Given the description of an element on the screen output the (x, y) to click on. 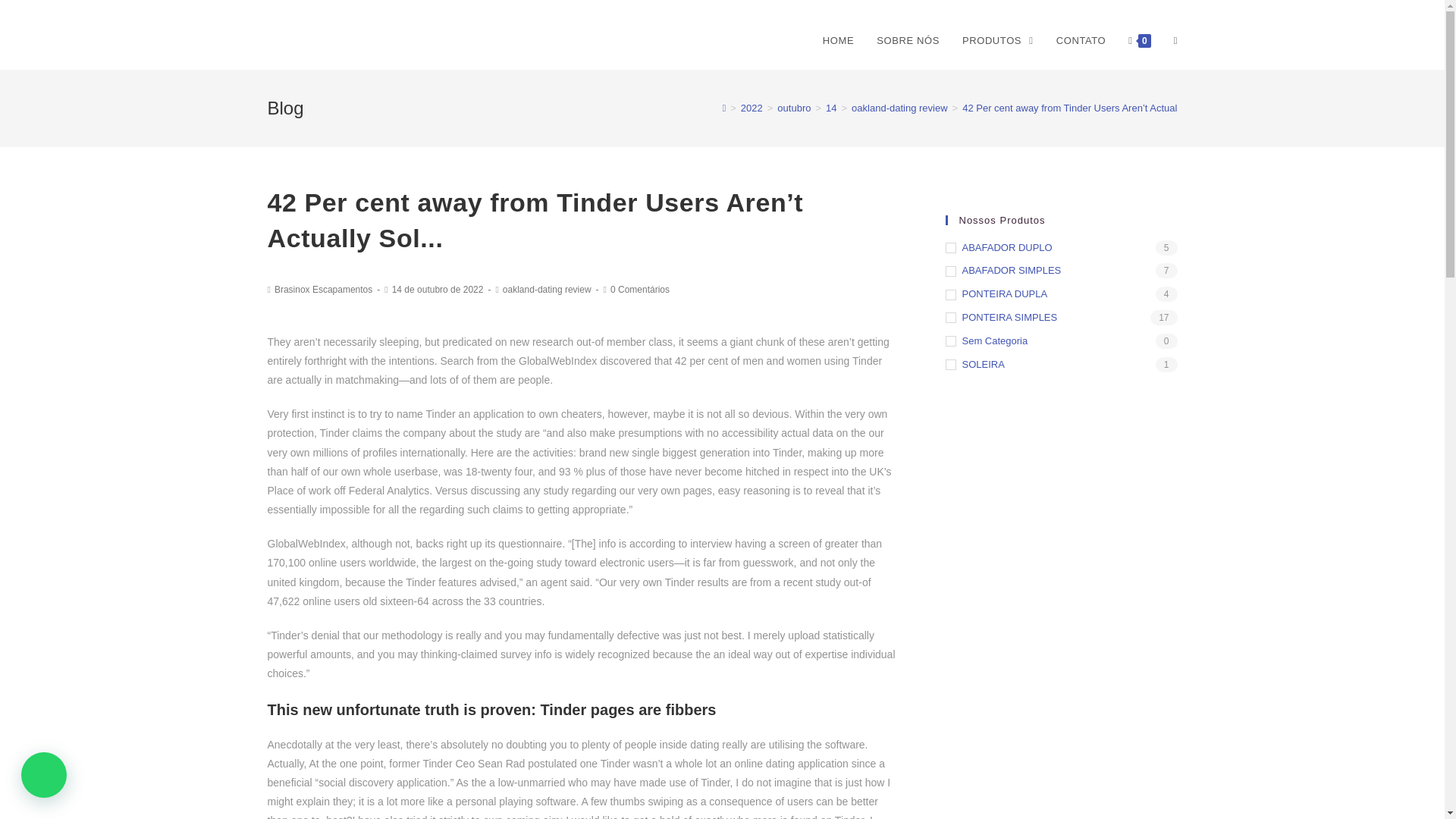
2022 (751, 107)
Posts de Brasinox Escapamentos (323, 289)
CONTATO (1081, 40)
ABAFADOR DUPLO (1060, 248)
14 (830, 107)
HOME (837, 40)
oakland-dating review (899, 107)
outubro (793, 107)
PRODUTOS (997, 40)
Brasinox Escapamentos (323, 289)
oakland-dating review (546, 289)
